Given the description of an element on the screen output the (x, y) to click on. 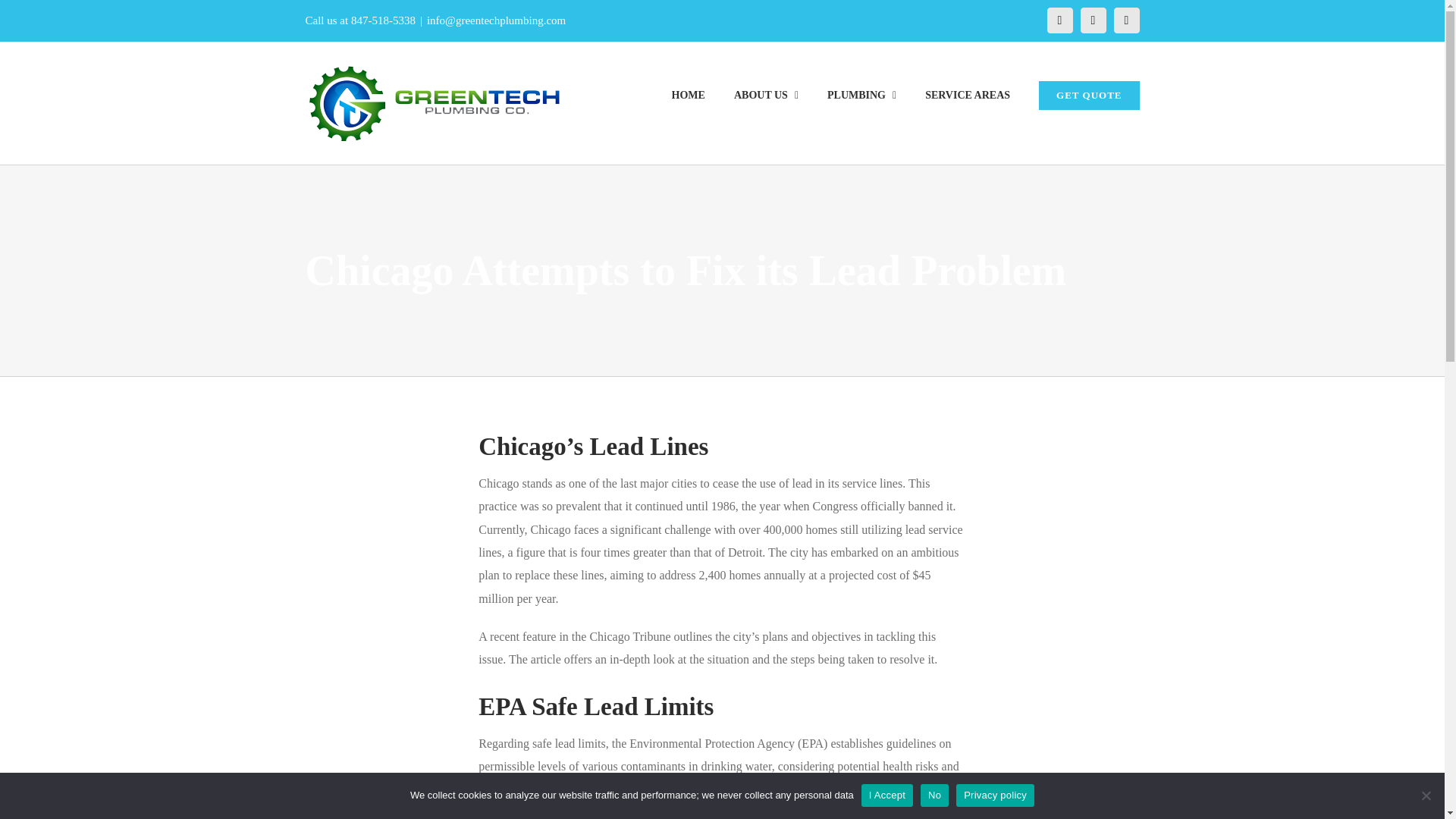
No (1425, 795)
LinkedIn (1092, 20)
Yelp (1125, 20)
GET QUOTE (1088, 94)
Facebook (1058, 20)
Facebook (1058, 20)
Yelp (1125, 20)
LinkedIn (1092, 20)
SERVICE AREAS (967, 94)
